Given the description of an element on the screen output the (x, y) to click on. 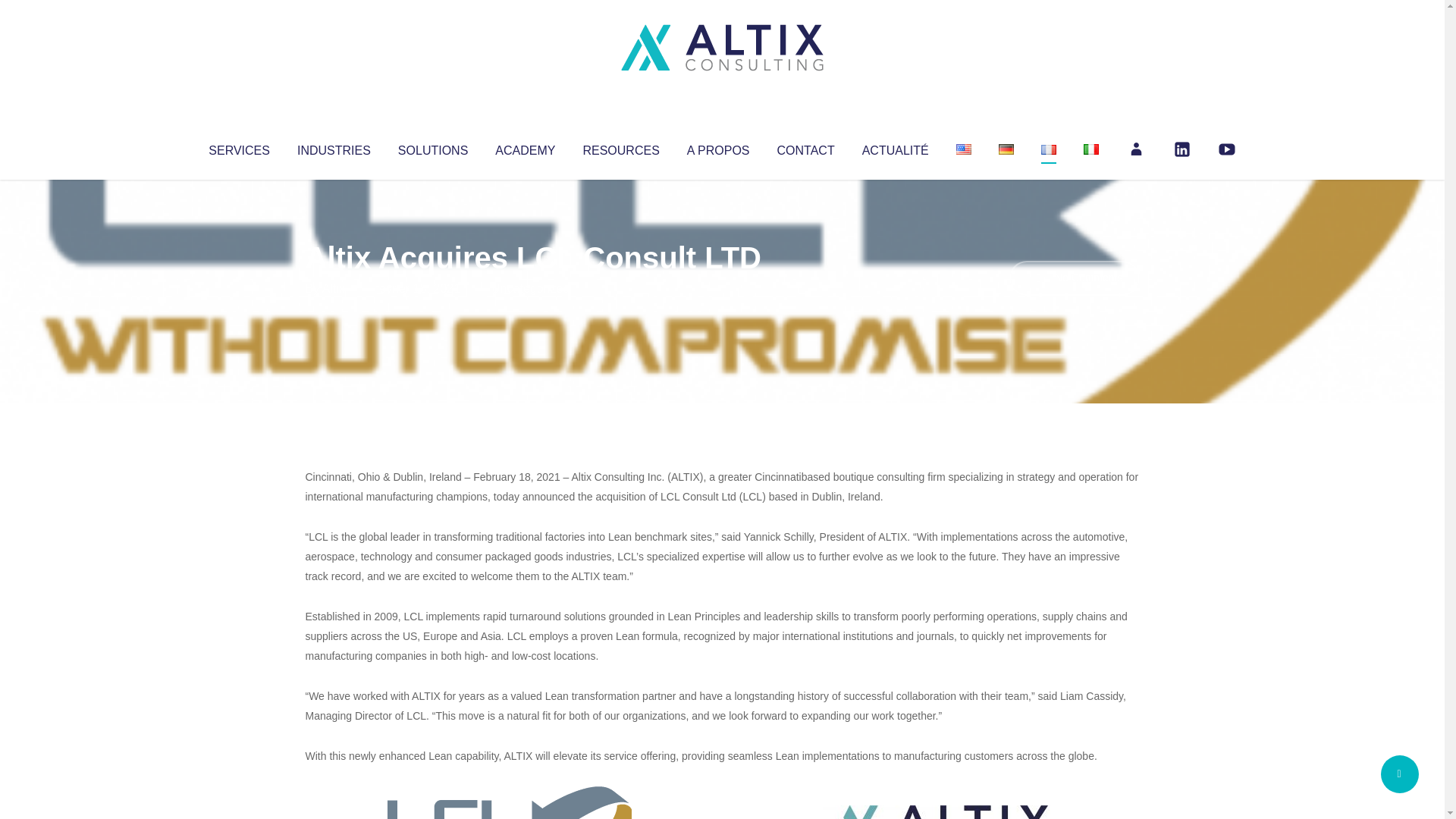
RESOURCES (620, 146)
SOLUTIONS (432, 146)
SERVICES (238, 146)
INDUSTRIES (334, 146)
Uncategorized (530, 287)
Articles par Altix (333, 287)
A PROPOS (718, 146)
ACADEMY (524, 146)
No Comments (1073, 278)
Altix (333, 287)
